Given the description of an element on the screen output the (x, y) to click on. 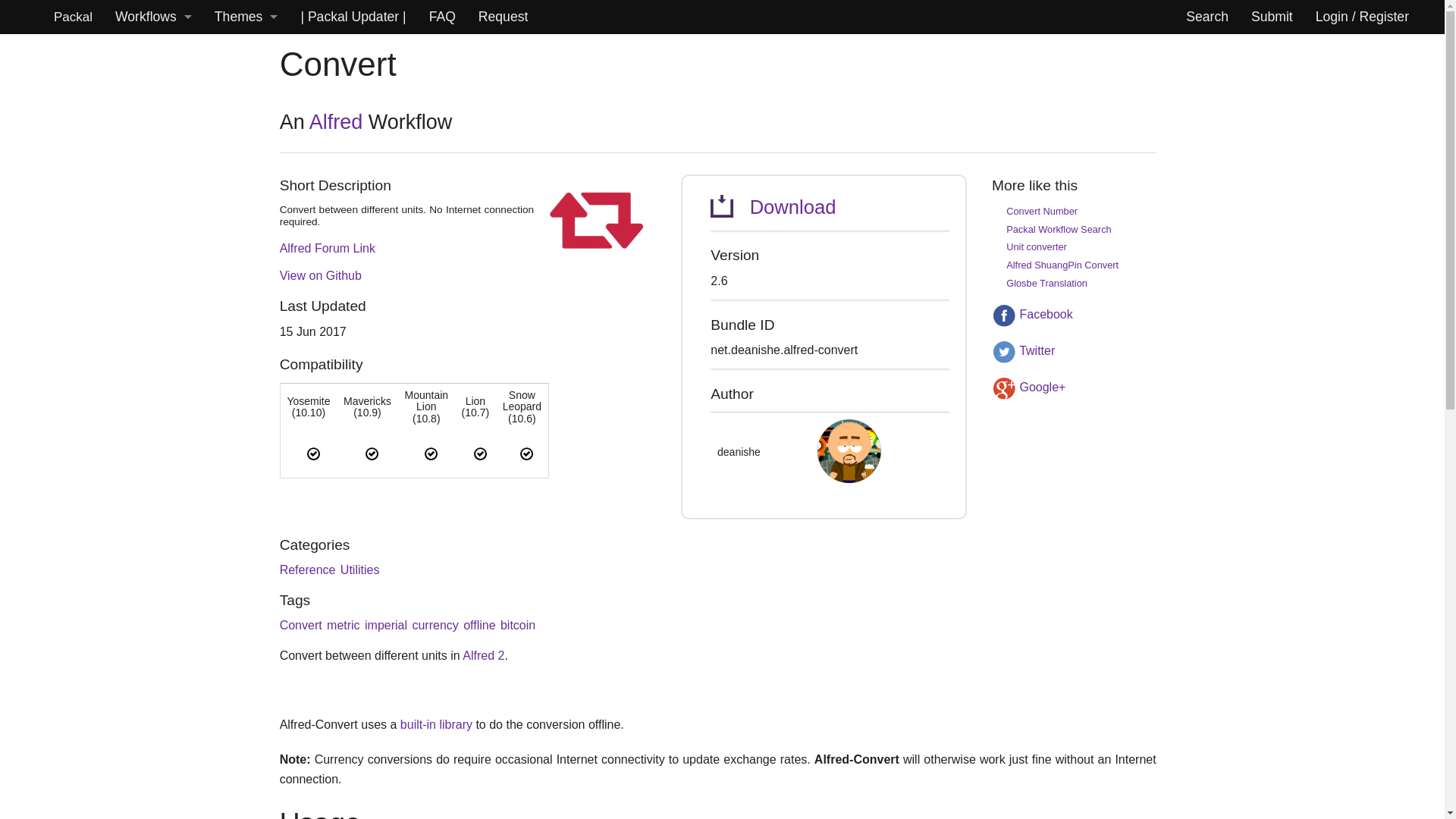
Alfred 2 (483, 655)
Themes (246, 17)
Home (72, 17)
Alfred (335, 121)
View on Github (320, 275)
offline (479, 625)
Unit converter (1036, 246)
Packal (72, 17)
Workflows (153, 17)
deanishe's picture (849, 452)
